Given the description of an element on the screen output the (x, y) to click on. 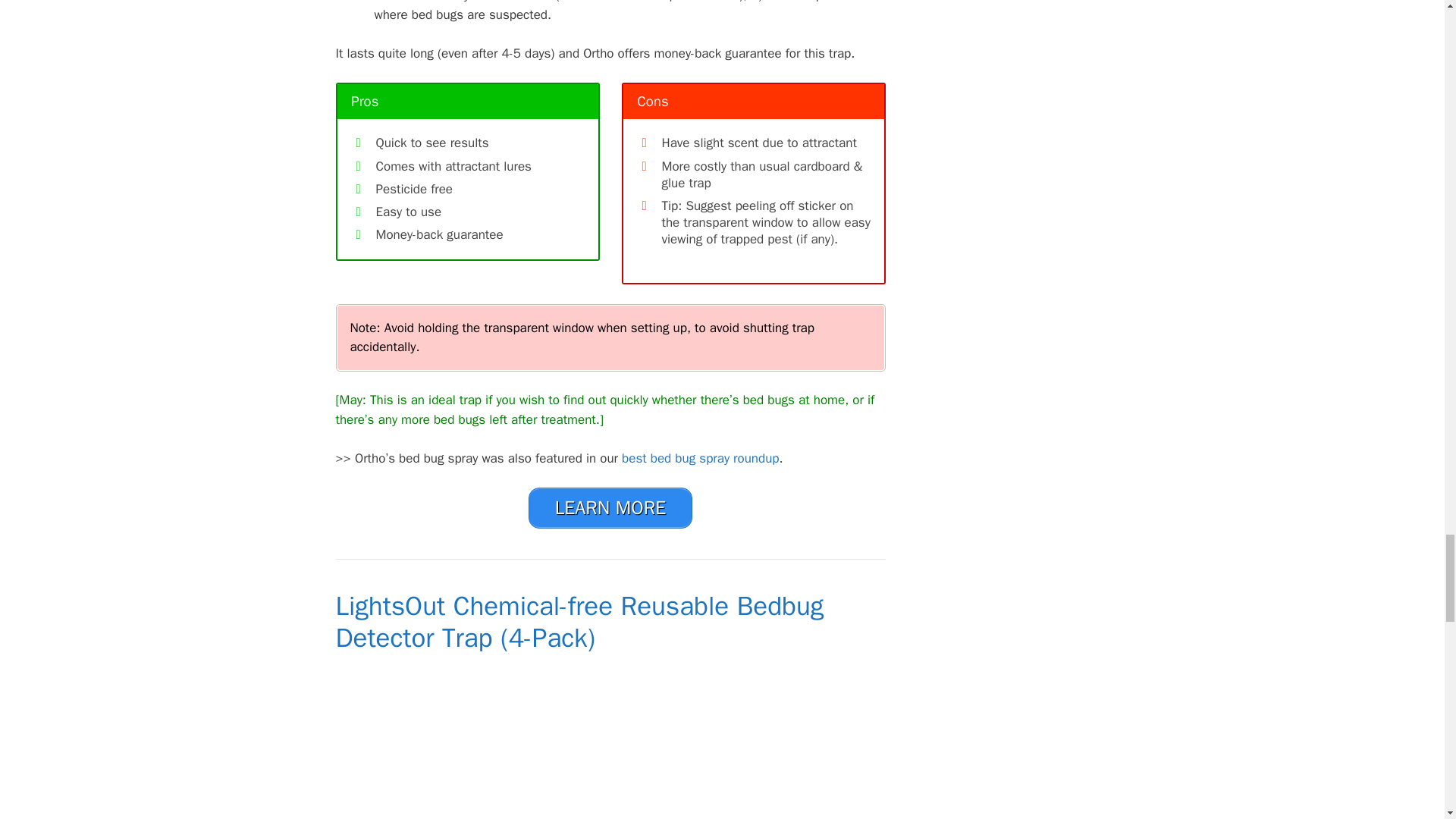
Best Bed Bug Spray in 2017 (699, 458)
